Given the description of an element on the screen output the (x, y) to click on. 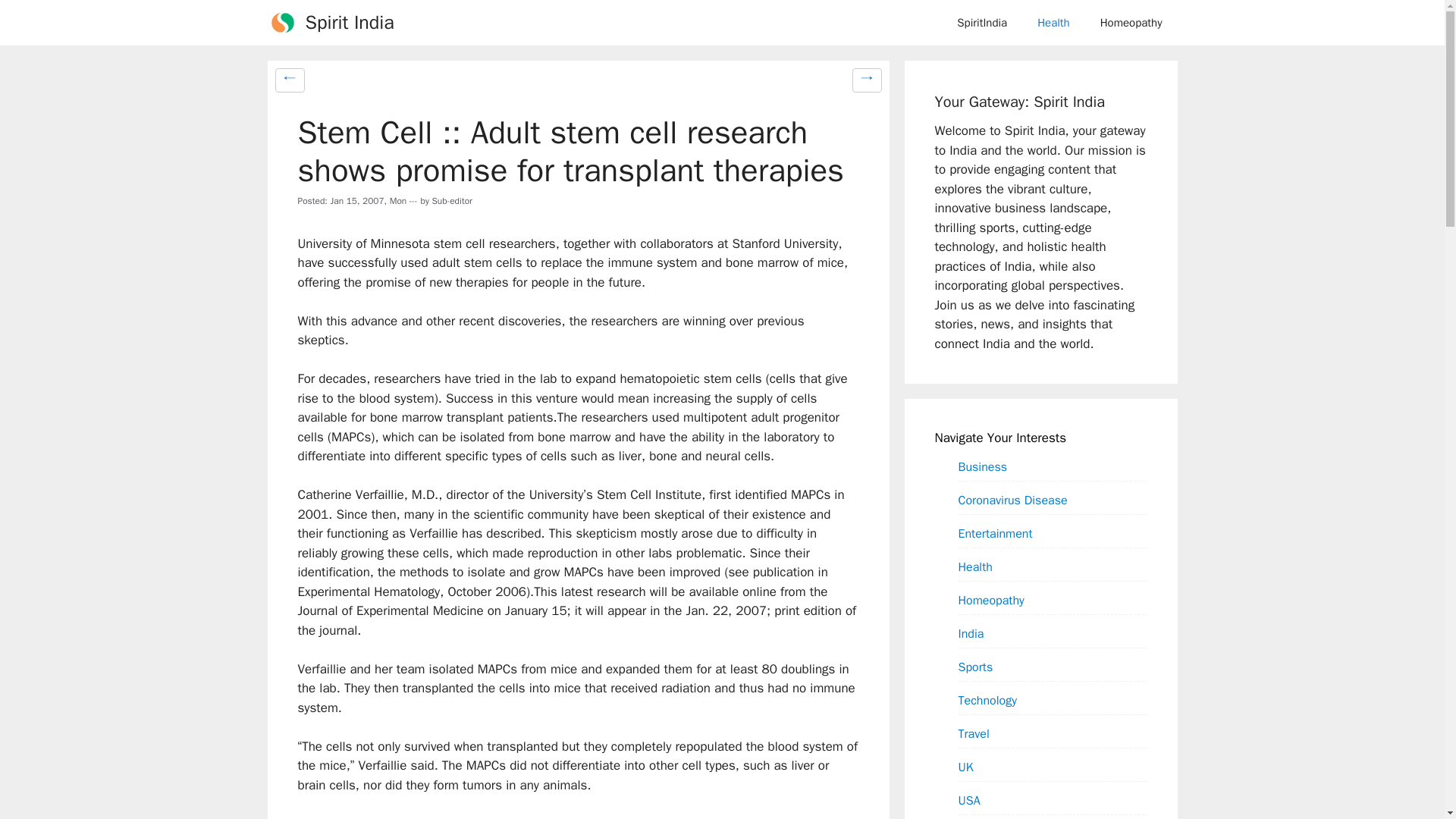
Health (1053, 22)
SpiritIndia (982, 22)
Homeopathy (1130, 22)
Coronavirus Disease (1012, 499)
Business (982, 466)
Spirit India (348, 22)
Entertainment (995, 533)
